Given the description of an element on the screen output the (x, y) to click on. 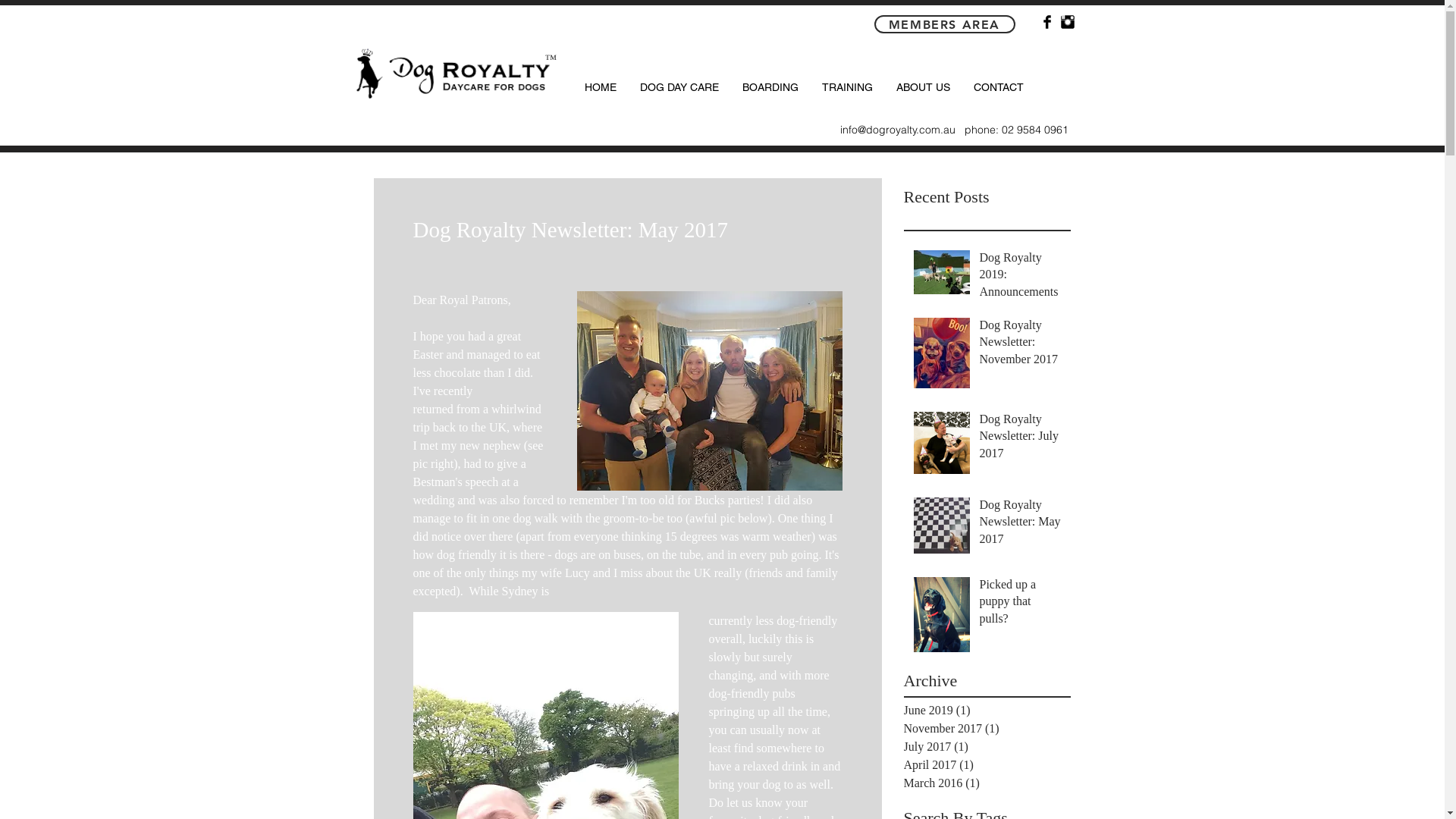
info@dogroyalty.com.au Element type: text (897, 129)
MEMBERS AREA Element type: text (943, 24)
BOARDING Element type: text (769, 87)
April 2017 (1) Element type: text (983, 765)
Dog Royalty Newsletter: July 2017 Element type: text (1020, 439)
July 2017 (1) Element type: text (983, 746)
March 2016 (1) Element type: text (983, 783)
Dog Royalty Newsletter: November 2017 Element type: text (1020, 344)
November 2017 (1) Element type: text (983, 728)
Doggy Daycare Sydney Element type: hover (451, 72)
June 2019 (1) Element type: text (983, 710)
Picked up a puppy that pulls? Element type: text (1020, 604)
TRAINING Element type: text (846, 87)
CONTACT Element type: text (998, 87)
HOME Element type: text (600, 87)
Dog Royalty Newsletter: May 2017 Element type: text (1020, 524)
ABOUT US Element type: text (922, 87)
DOG DAY CARE Element type: text (678, 87)
Dog Royalty 2019: Announcements Element type: text (1020, 277)
